Given the description of an element on the screen output the (x, y) to click on. 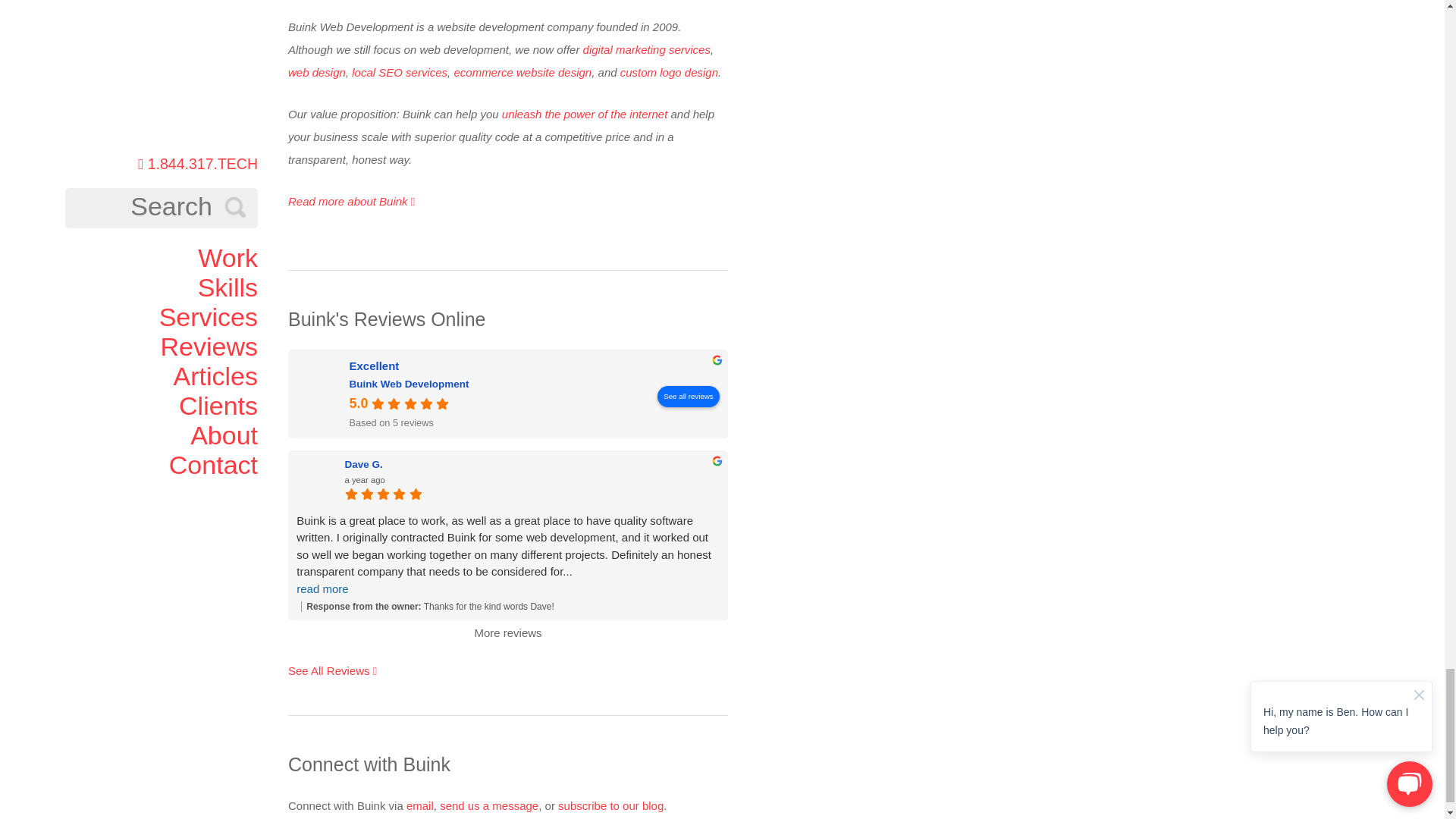
custom logo design (668, 72)
Response from the owner: Thanks for the kind words Dave! (510, 606)
More reviews (507, 632)
local SEO services (399, 72)
unleash the power of the internet (584, 113)
web design (317, 72)
Dave G. (316, 479)
Buink Web Development (320, 393)
email (419, 805)
See All Reviews (332, 670)
